Given the description of an element on the screen output the (x, y) to click on. 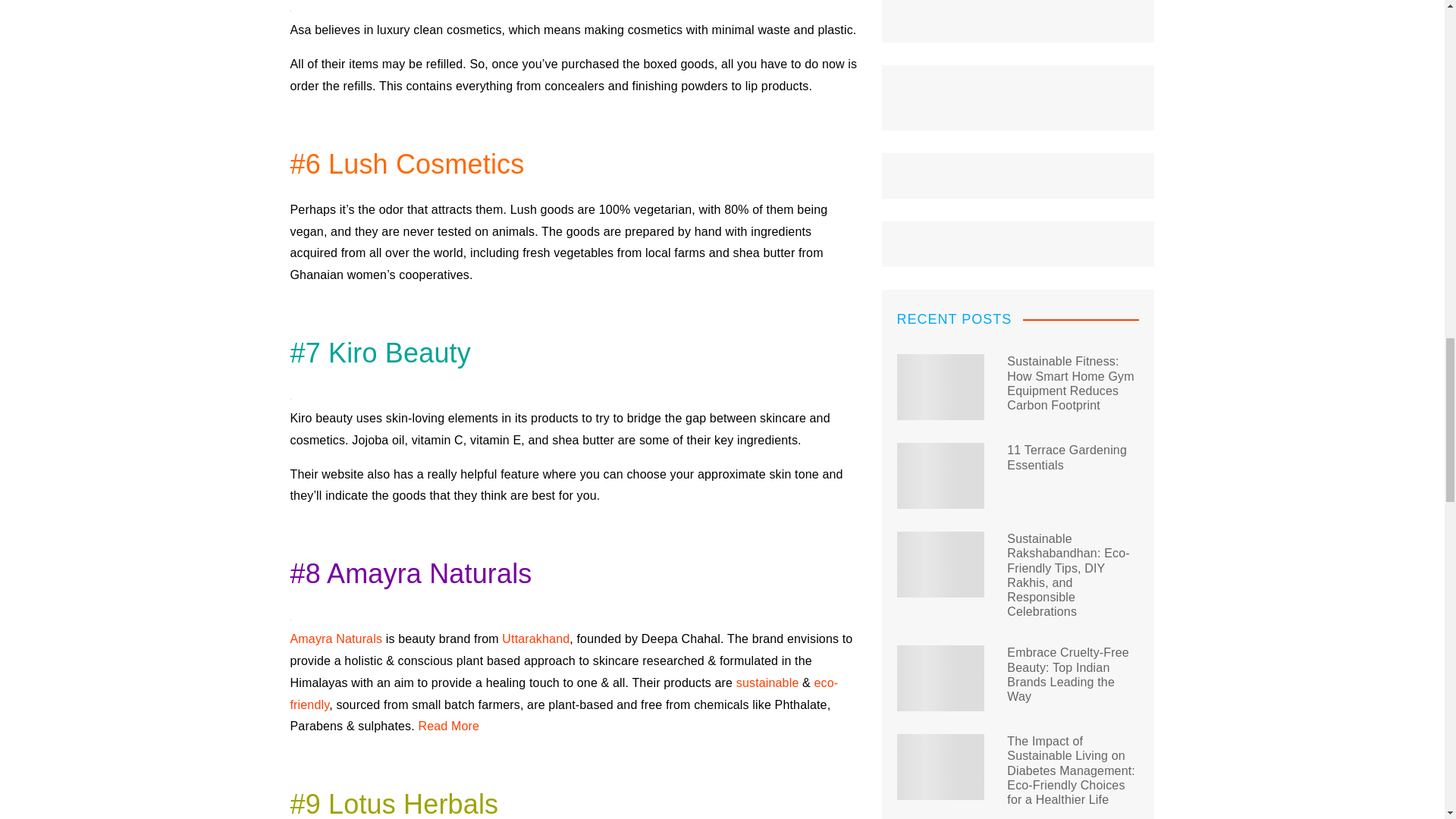
sustainable (767, 682)
Amayra Naturals (335, 638)
Read More (448, 725)
Uttarakhand (534, 638)
eco-friendly (563, 693)
